Given the description of an element on the screen output the (x, y) to click on. 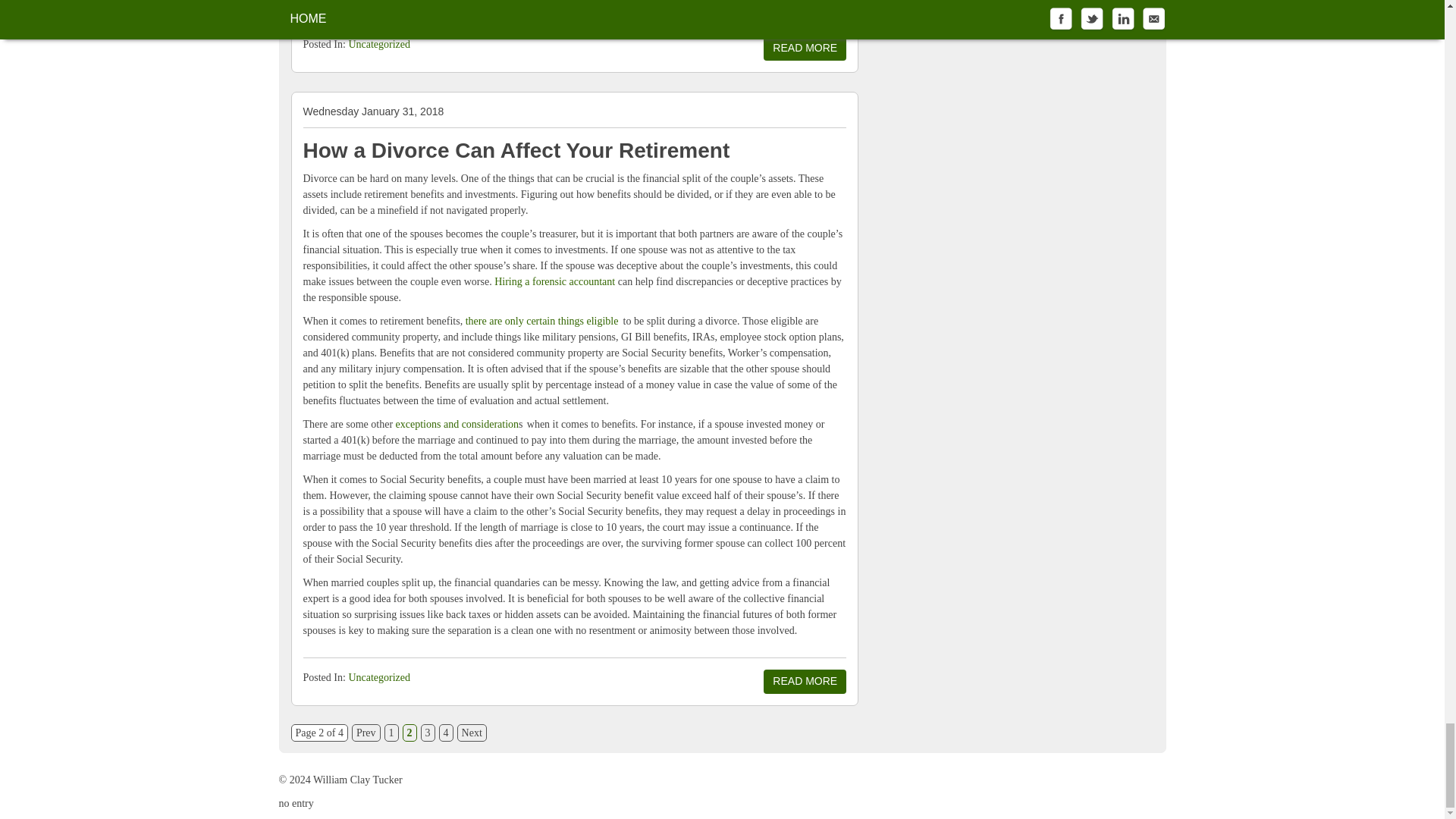
View all posts in Uncategorized (378, 677)
View all posts in Uncategorized (378, 43)
